Given the description of an element on the screen output the (x, y) to click on. 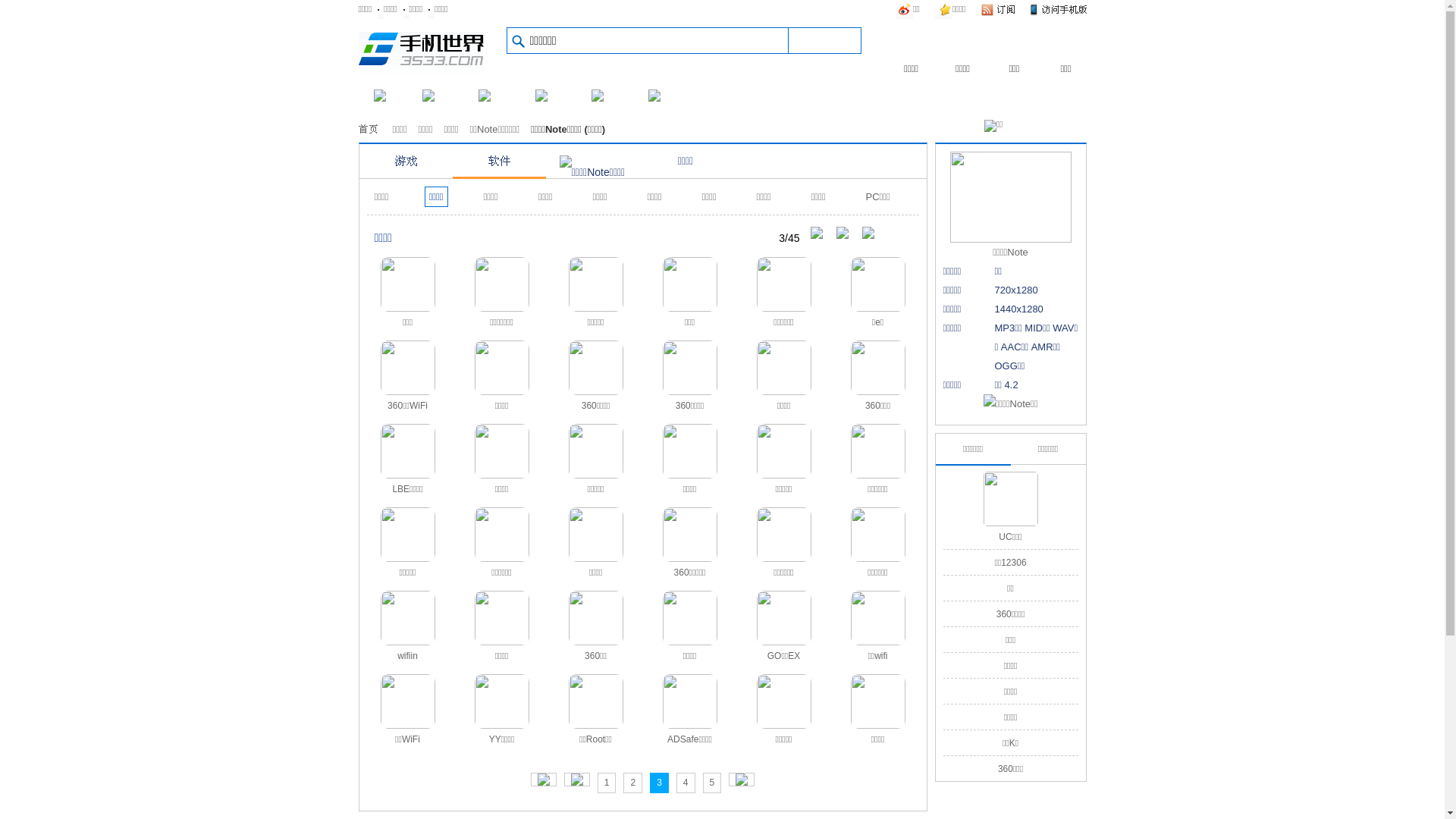
5 Element type: text (711, 782)
4 Element type: text (685, 782)
wifiin Element type: text (406, 626)
2 Element type: text (632, 782)
1 Element type: text (606, 782)
